Given the description of an element on the screen output the (x, y) to click on. 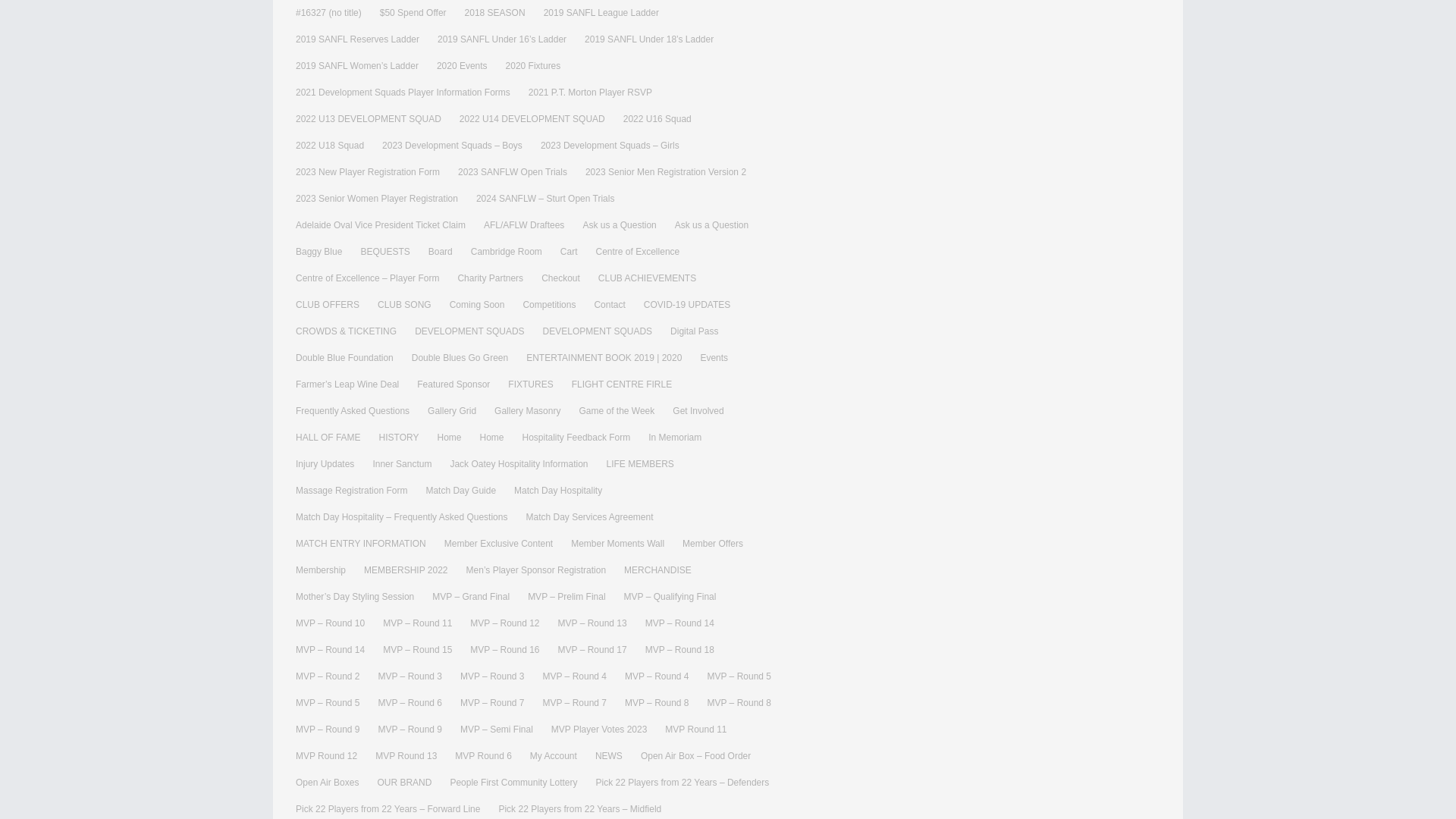
2021 Development Squads Player Information Forms (403, 92)
Baggy Blue (318, 252)
Centre of Excellence (637, 252)
2020 Fixtures (532, 66)
2020 Events (461, 66)
Checkout (560, 278)
2021 P.T. Morton Player RSVP (590, 92)
2022 U14 DEVELOPMENT SQUAD (532, 119)
Ask us a Question (619, 225)
Ask us a Question (711, 225)
Coming Soon (477, 304)
2023 New Player Registration Form (367, 171)
2022 U16 Squad (657, 119)
CLUB SONG (403, 304)
Adelaide Oval Vice President Ticket Claim (380, 225)
